Given the description of an element on the screen output the (x, y) to click on. 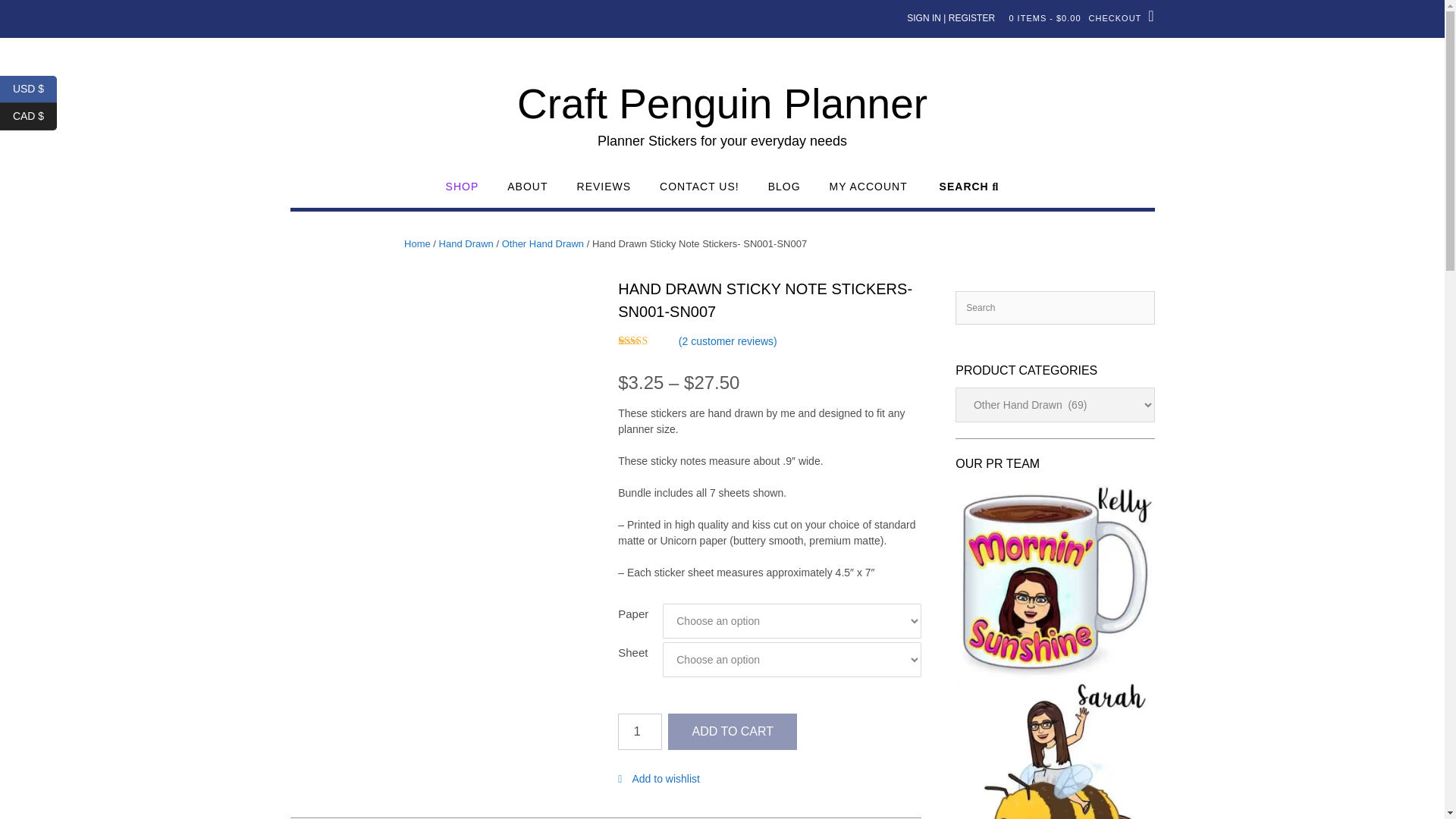
Craft Penguin Planner (721, 104)
SHOP (462, 193)
1 (639, 731)
